Given the description of an element on the screen output the (x, y) to click on. 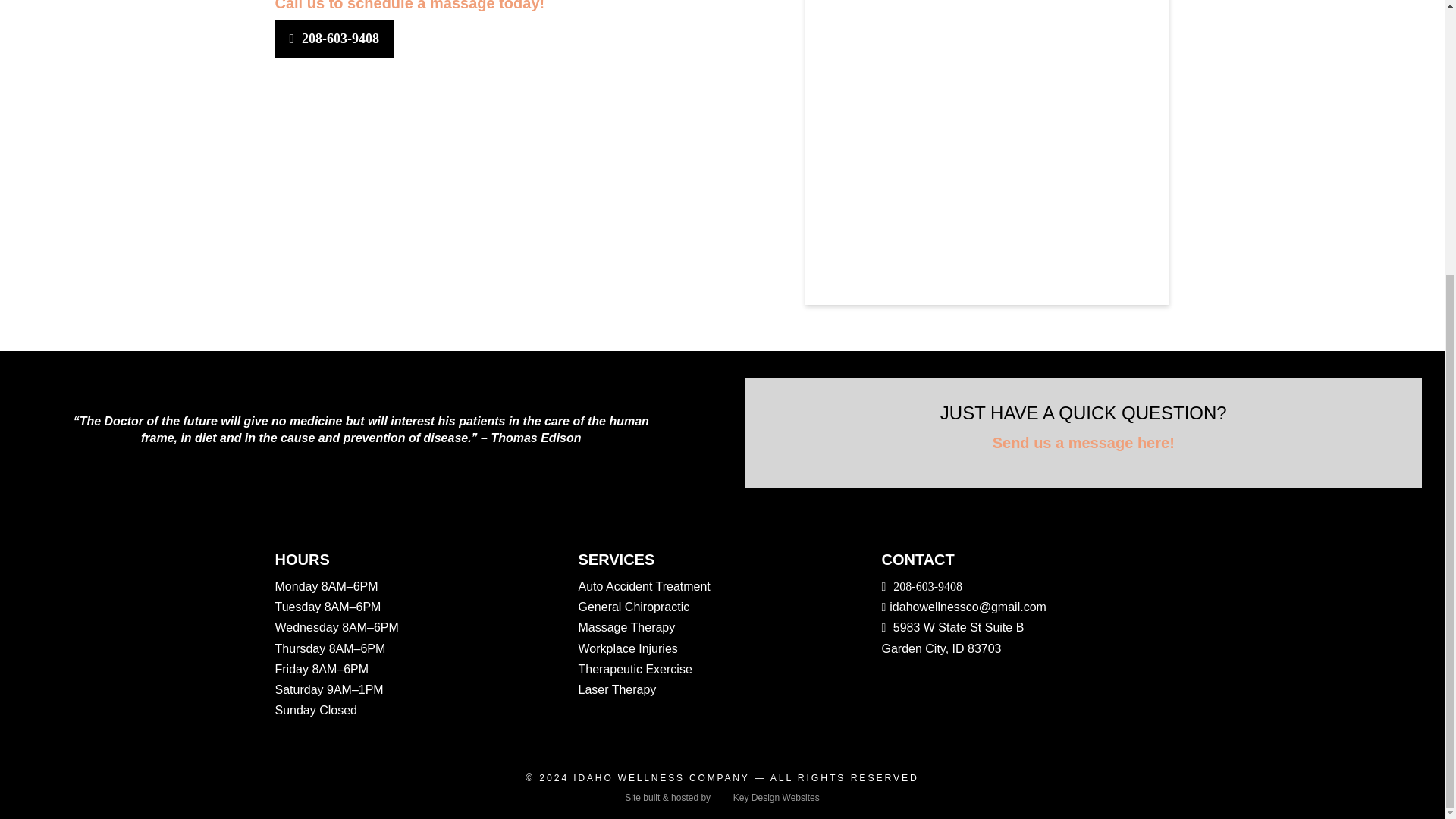
Local: 208-603-9408 (334, 38)
Local: 208-603-9408 (921, 585)
Site by Key Design Websites (721, 797)
